Given the description of an element on the screen output the (x, y) to click on. 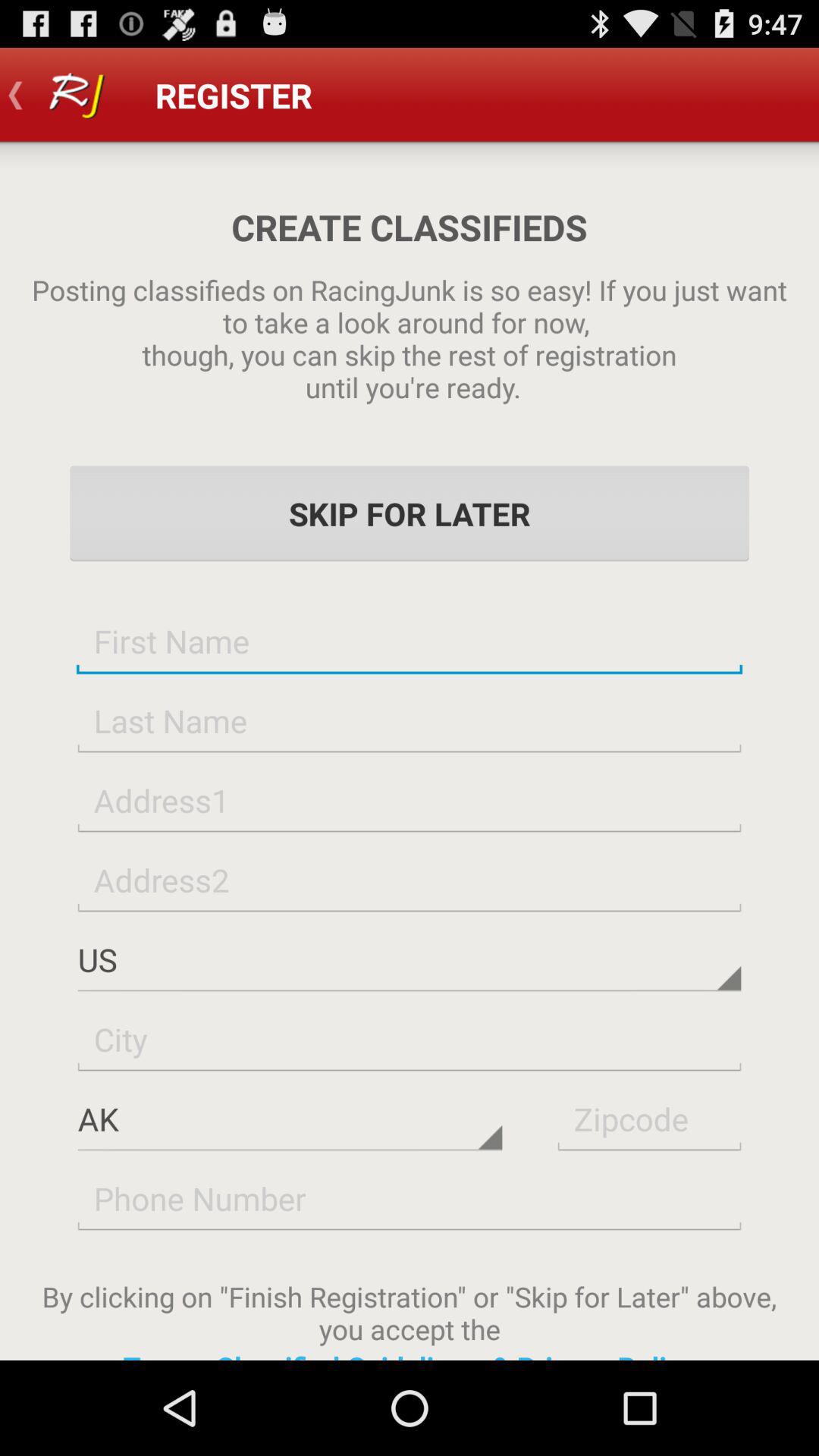
insert postal code (649, 1118)
